Given the description of an element on the screen output the (x, y) to click on. 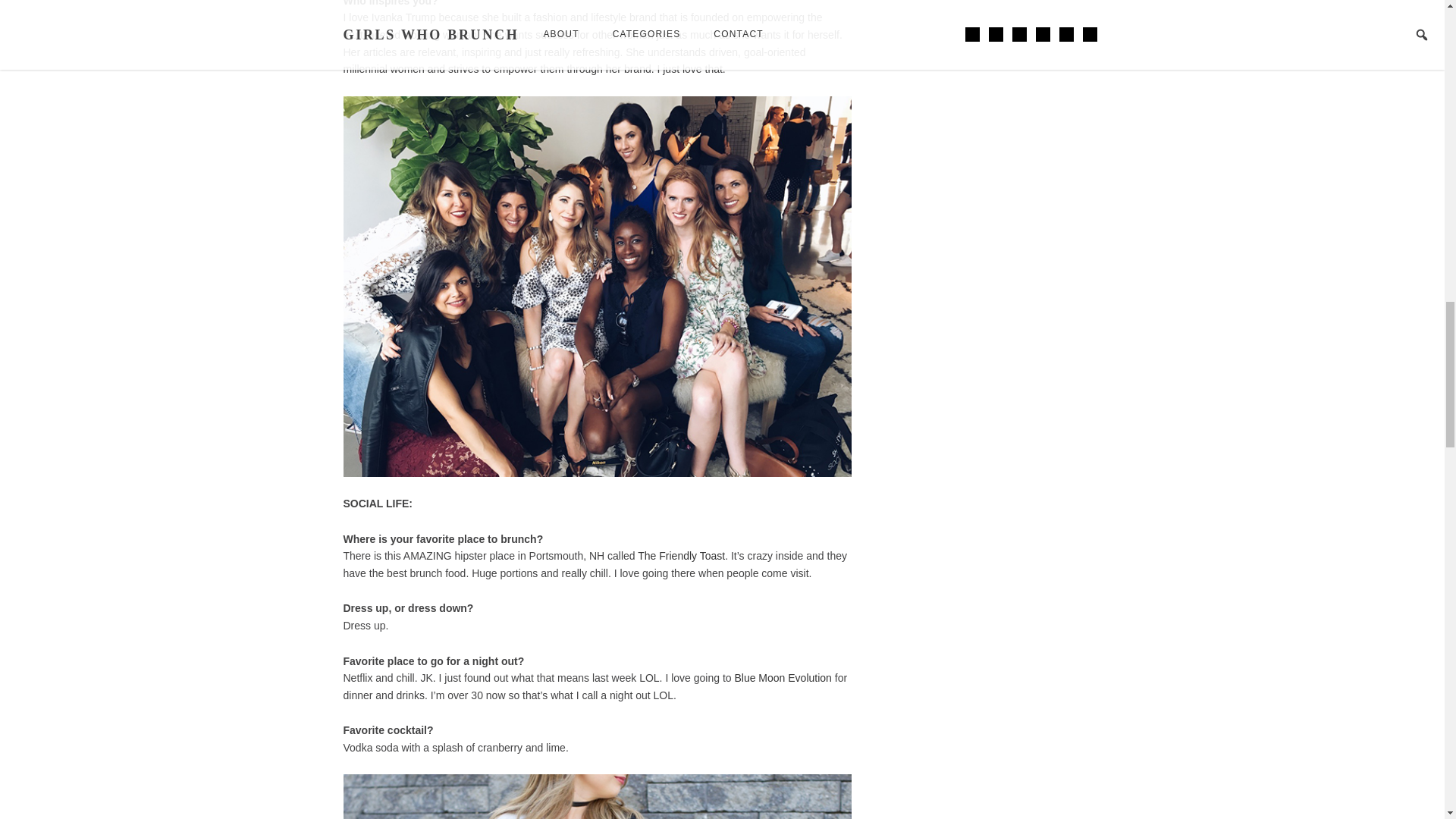
Blue Moon Evolution (782, 677)
The Friendly Toast (681, 555)
